Given the description of an element on the screen output the (x, y) to click on. 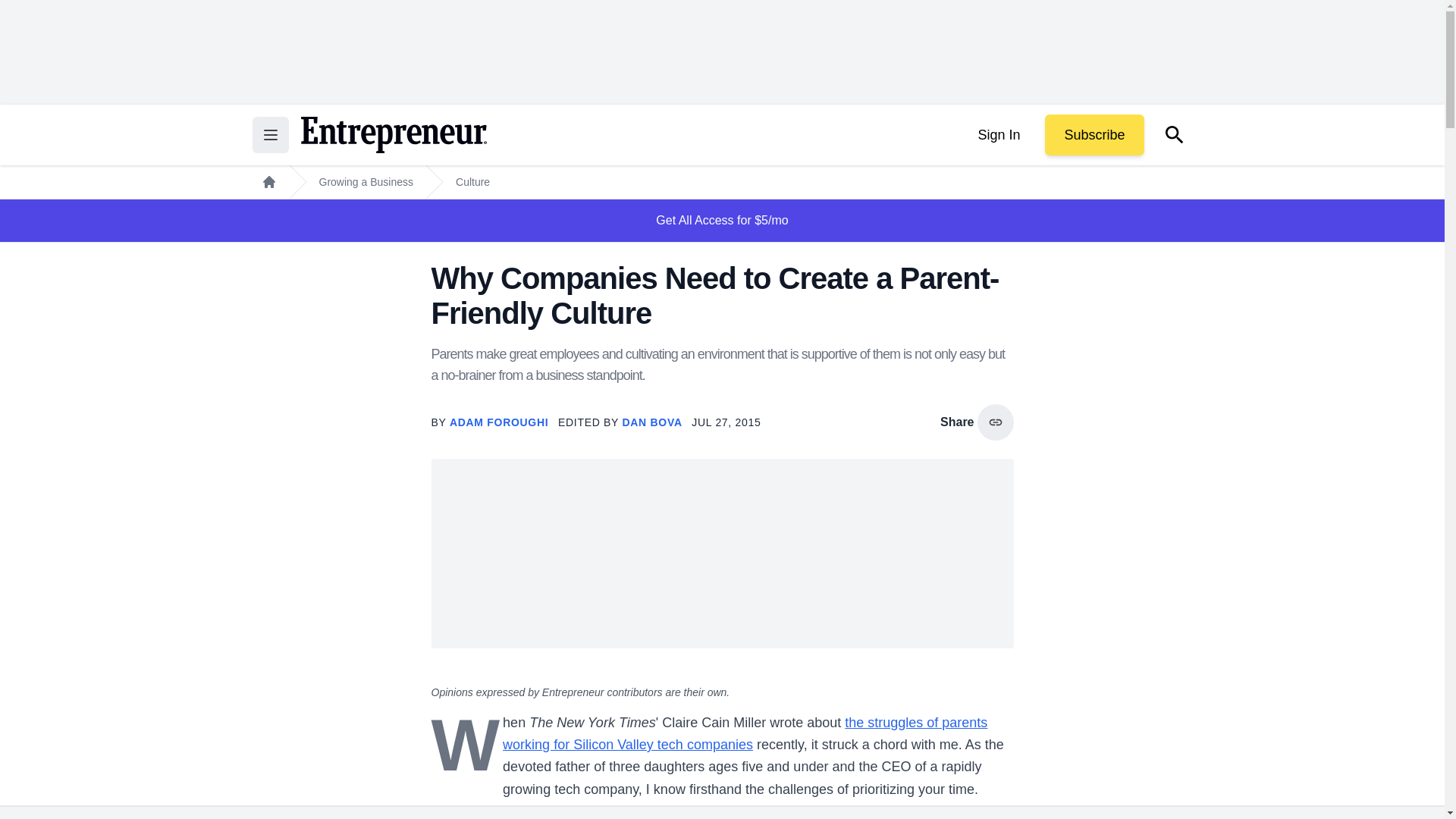
Subscribe (1093, 134)
Sign In (998, 134)
copy (994, 422)
Return to the home page (392, 135)
